Given the description of an element on the screen output the (x, y) to click on. 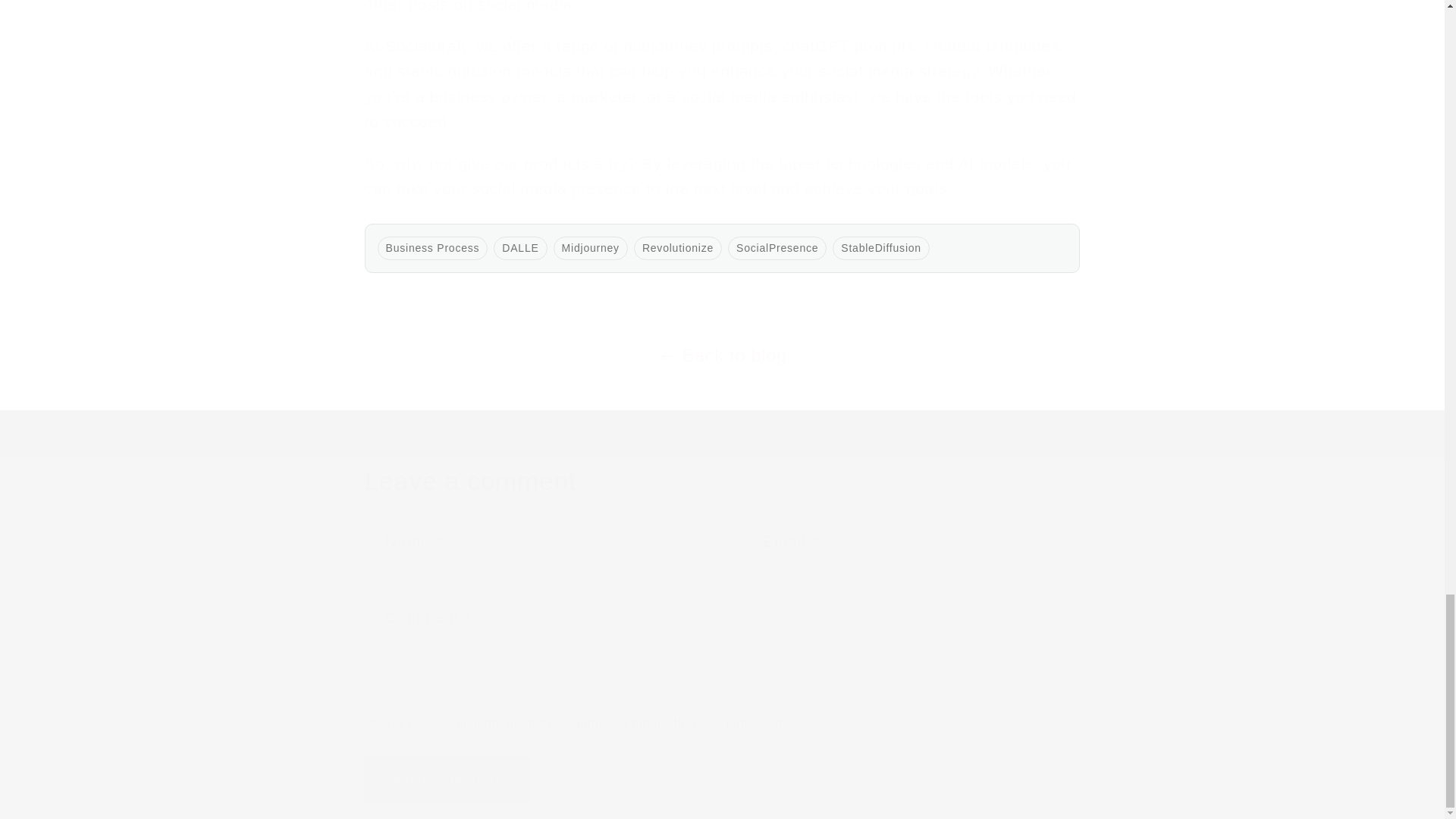
Show articles tagged StableDiffusion (881, 248)
Show articles tagged Midjourney (591, 248)
Show articles tagged DALLE (520, 248)
DALLE (520, 248)
StableDiffusion (881, 248)
SocialPresence (777, 248)
Show articles tagged Revolutionize (677, 248)
Midjourney (591, 248)
Show articles tagged Business Process (432, 248)
Business Process (432, 248)
Revolutionize (677, 248)
Post comment (447, 779)
Show articles tagged SocialPresence (777, 248)
Post comment (447, 779)
